Given the description of an element on the screen output the (x, y) to click on. 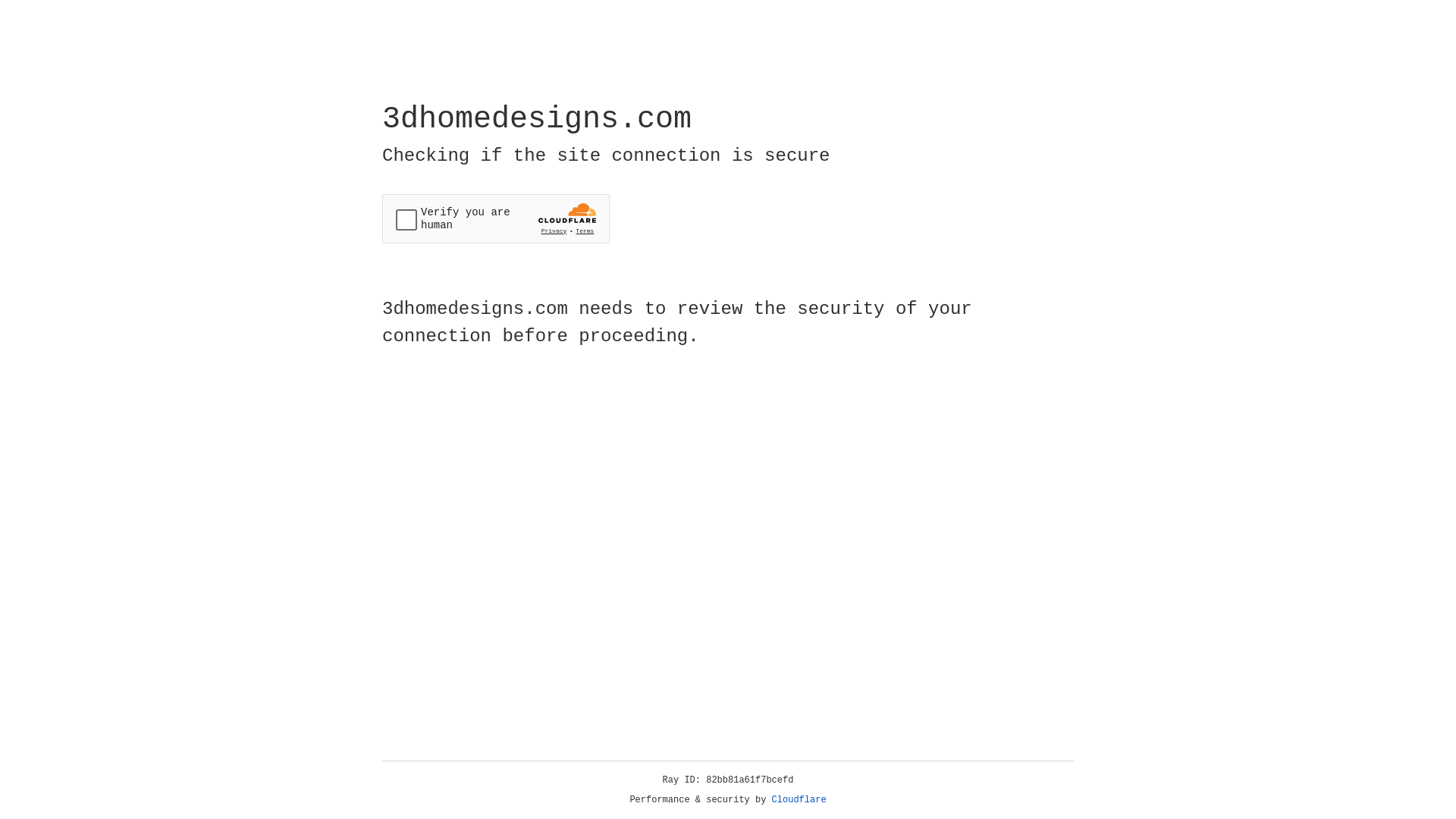
Cloudflare Element type: text (798, 799)
Widget containing a Cloudflare security challenge Element type: hover (495, 218)
